Given the description of an element on the screen output the (x, y) to click on. 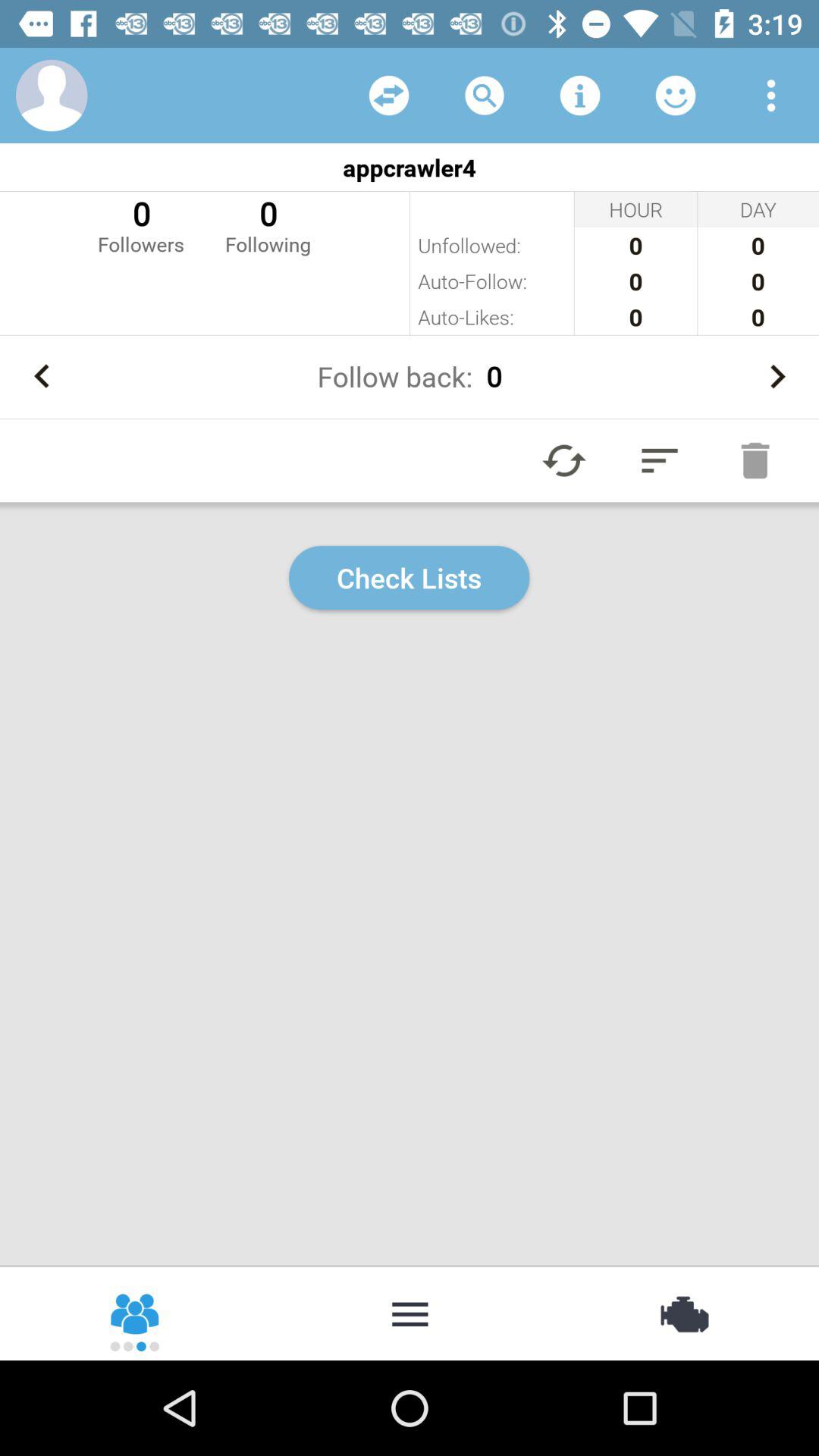
view mutual friends (388, 95)
